Given the description of an element on the screen output the (x, y) to click on. 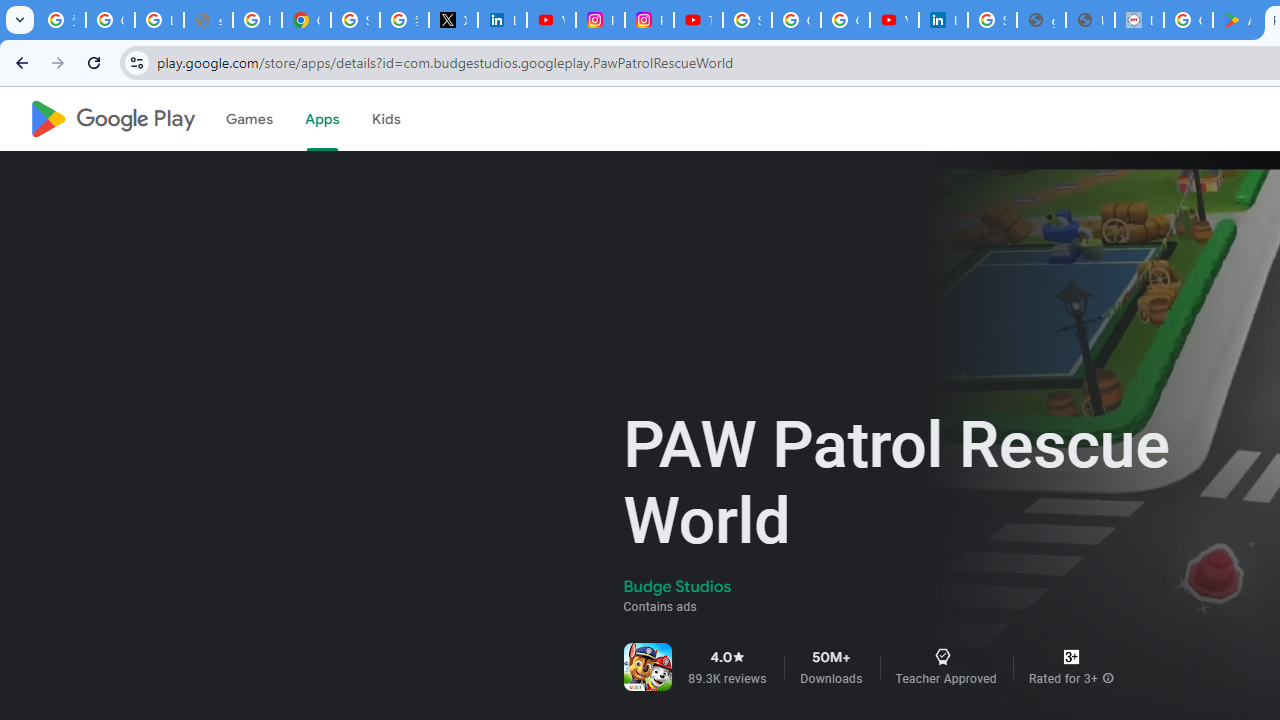
User Details (1090, 20)
Sign in - Google Accounts (747, 20)
Sign in - Google Accounts (355, 20)
Kids (385, 119)
YouTube Content Monetization Policies - How YouTube Works (551, 20)
Games (248, 119)
